Given the description of an element on the screen output the (x, y) to click on. 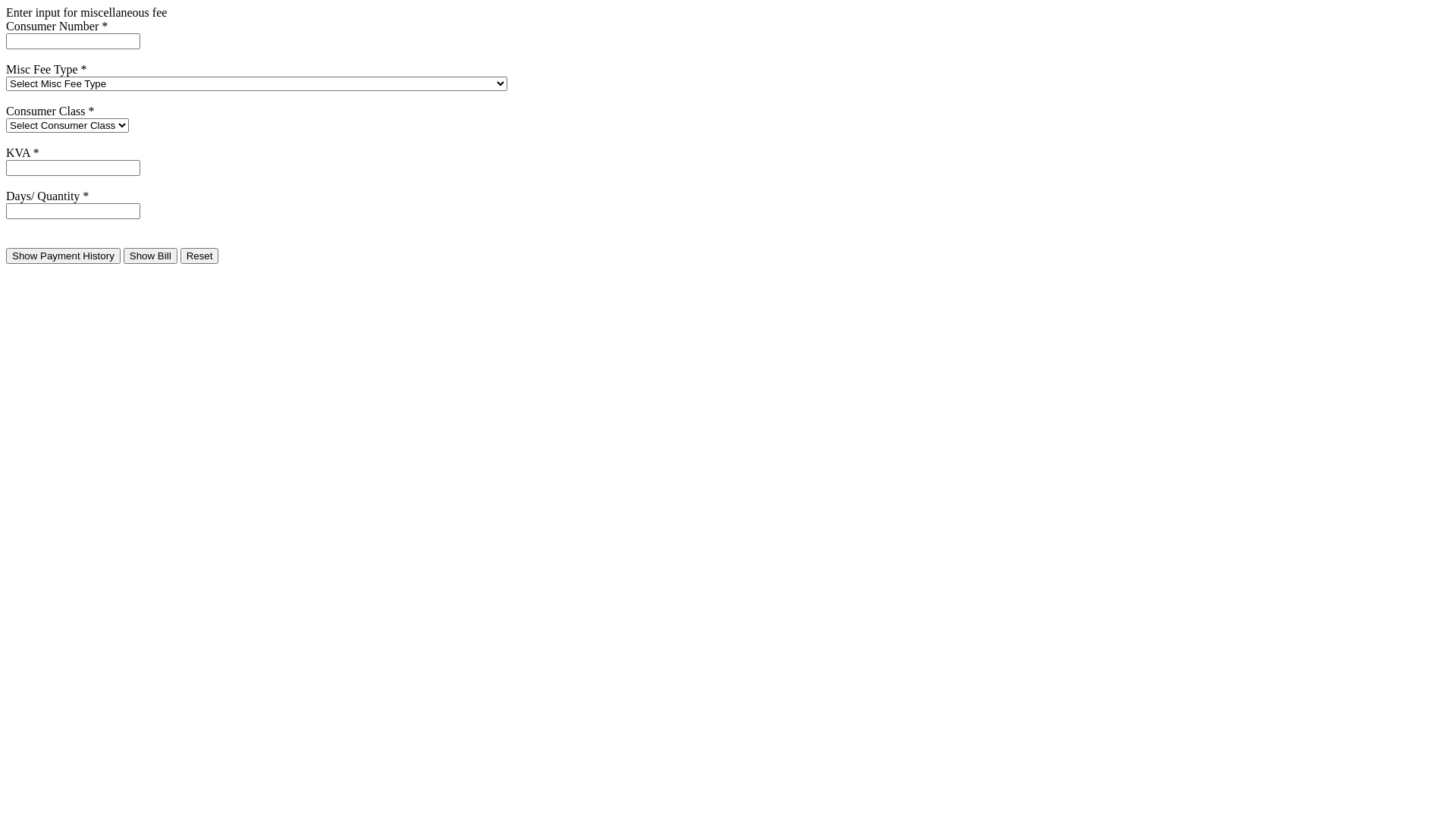
Show Bill Element type: text (150, 255)
